Given the description of an element on the screen output the (x, y) to click on. 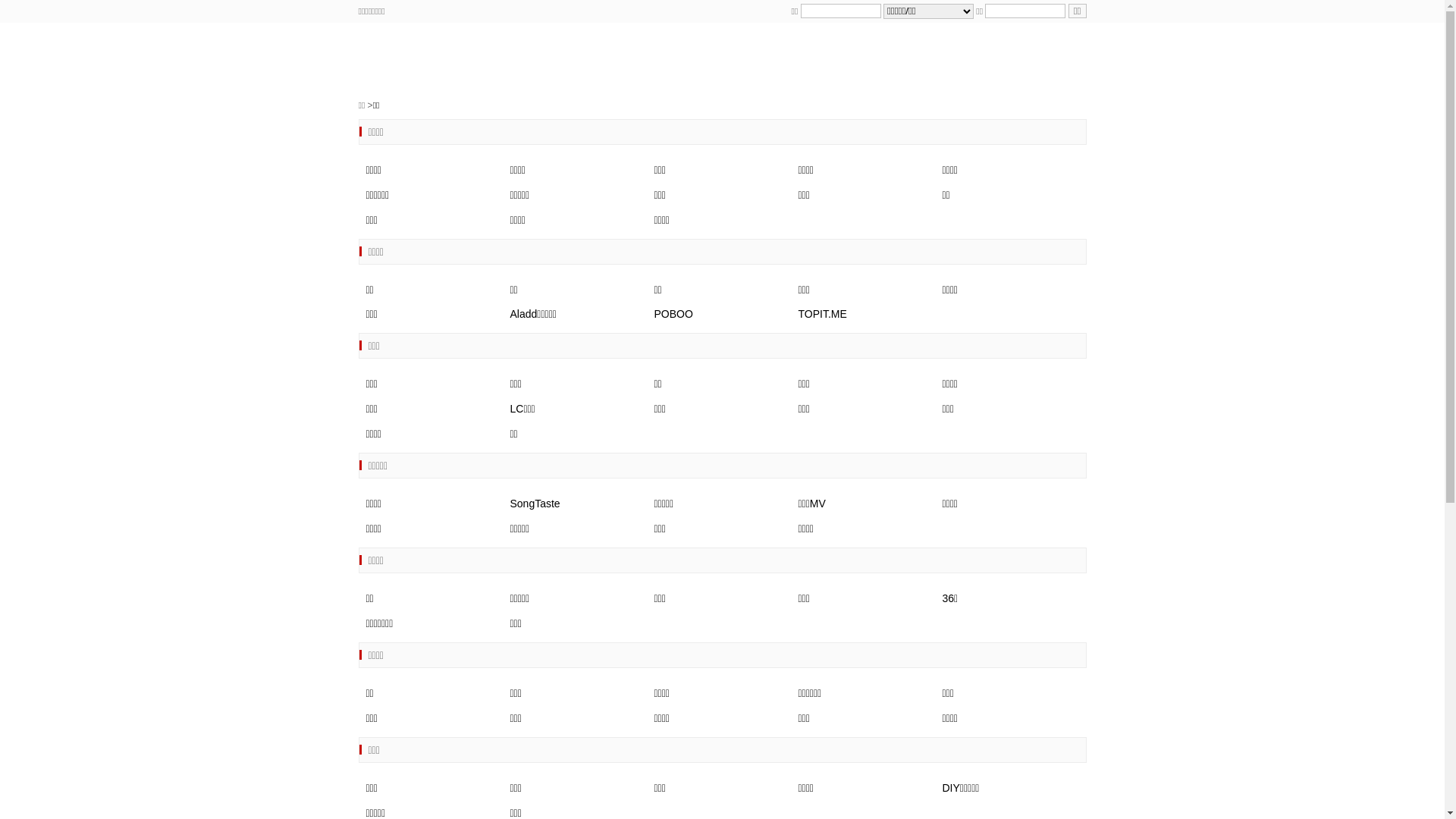
POBOO Element type: text (672, 313)
TOPIT.ME Element type: text (821, 313)
SongTaste Element type: text (534, 503)
